Given the description of an element on the screen output the (x, y) to click on. 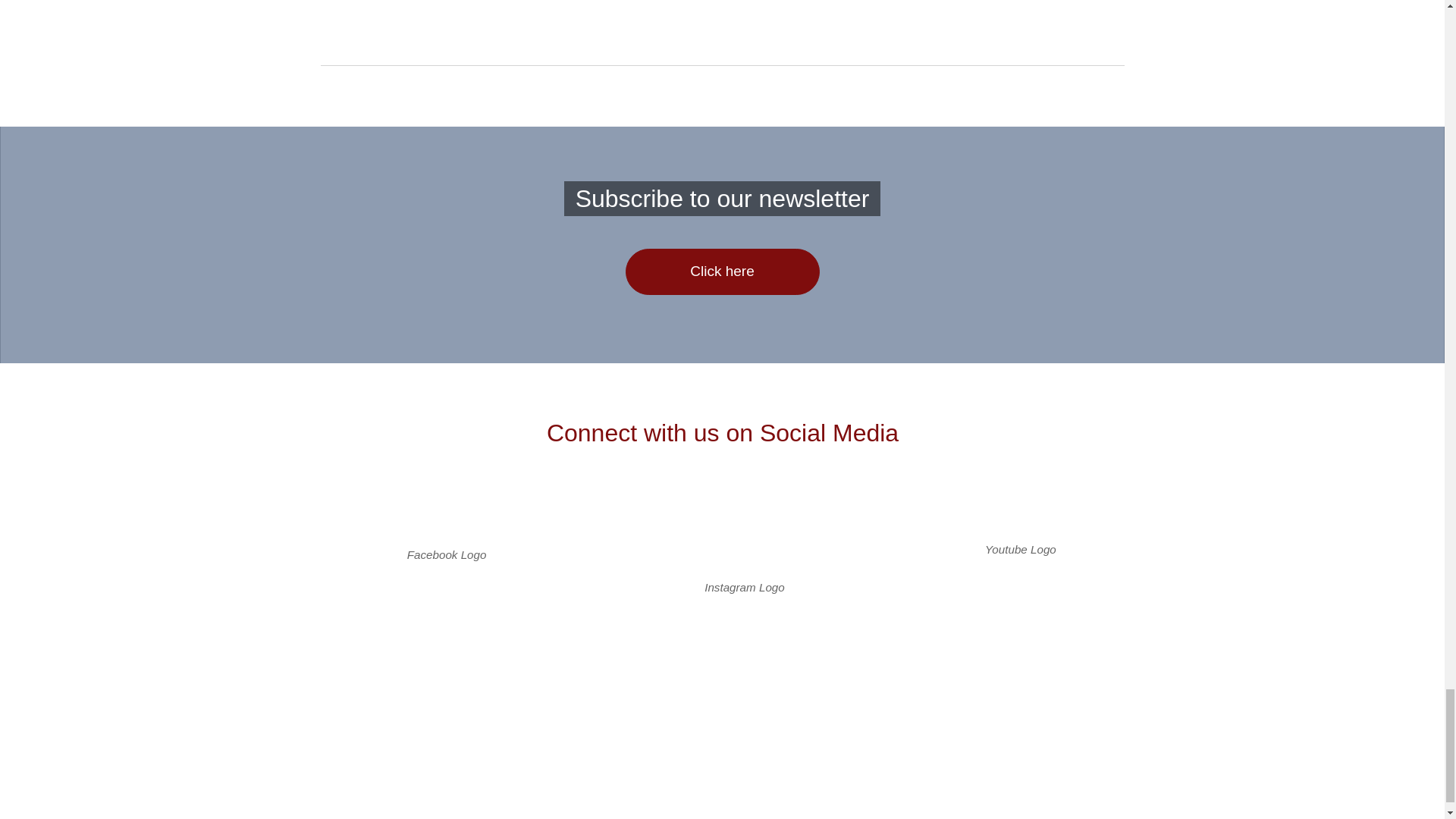
Youtube Logo (1020, 514)
Instagram Logo (744, 534)
Facebook Logo (446, 517)
